Given the description of an element on the screen output the (x, y) to click on. 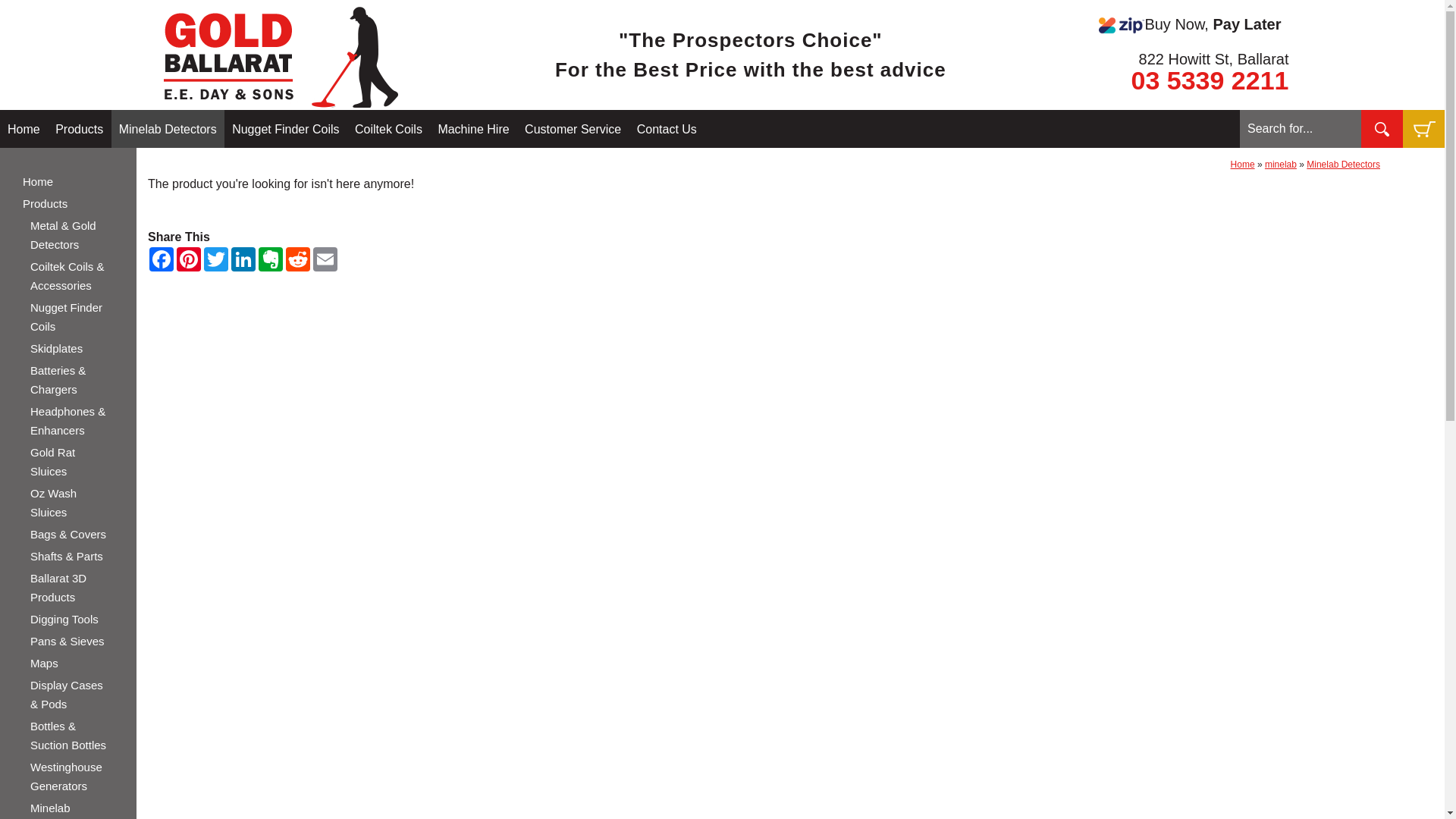
Contact Us Element type: text (666, 128)
Buy Now, Pay Later Element type: text (1147, 24)
Oz Wash Sluices Element type: text (71, 502)
Facebook Element type: text (161, 259)
Minelab Detectors Element type: text (1343, 164)
minelab Element type: text (1280, 164)
Display Cases & Pods Element type: text (71, 694)
Coiltek Coils Element type: text (388, 128)
Home Element type: text (67, 181)
03 5339 2211 Element type: text (1210, 79)
Digging Tools Element type: text (71, 619)
822 Howitt St, Ballarat Element type: text (1214, 58)
Ballarat 3D Products Element type: text (71, 587)
Reddit Element type: text (297, 259)
Metal & Gold Detectors Element type: text (71, 234)
Products Element type: text (78, 128)
Bottles & Suction Bottles Element type: text (71, 735)
LinkedIn Element type: text (243, 259)
Twitter Element type: text (215, 259)
Pans & Sieves Element type: text (71, 641)
Evernote Element type: text (270, 259)
Pinterest Element type: text (188, 259)
Home Element type: text (1242, 164)
Gold Rat Sluices Element type: text (71, 461)
Machine Hire Element type: text (472, 128)
Home Element type: text (23, 128)
Skidplates Element type: text (71, 348)
Shafts & Parts Element type: text (71, 556)
Batteries & Chargers Element type: text (71, 379)
Bags & Covers Element type: text (71, 534)
Headphones & Enhancers Element type: text (71, 420)
E.E. Day & Sons - Gold Ballarat Element type: hover (281, 56)
Maps Element type: text (71, 663)
Coiltek Coils & Accessories Element type: text (71, 275)
Westinghouse Generators Element type: text (71, 776)
Minelab Detectors Element type: text (167, 128)
Nugget Finder Coils Element type: text (285, 128)
Customer Service Element type: text (572, 128)
View Shopping Cart Element type: hover (1423, 129)
Nugget Finder Coils Element type: text (71, 316)
Buy Now, Pay Later with zipPay Element type: hover (1121, 25)
Email Element type: text (324, 259)
Products Element type: text (67, 203)
